Given the description of an element on the screen output the (x, y) to click on. 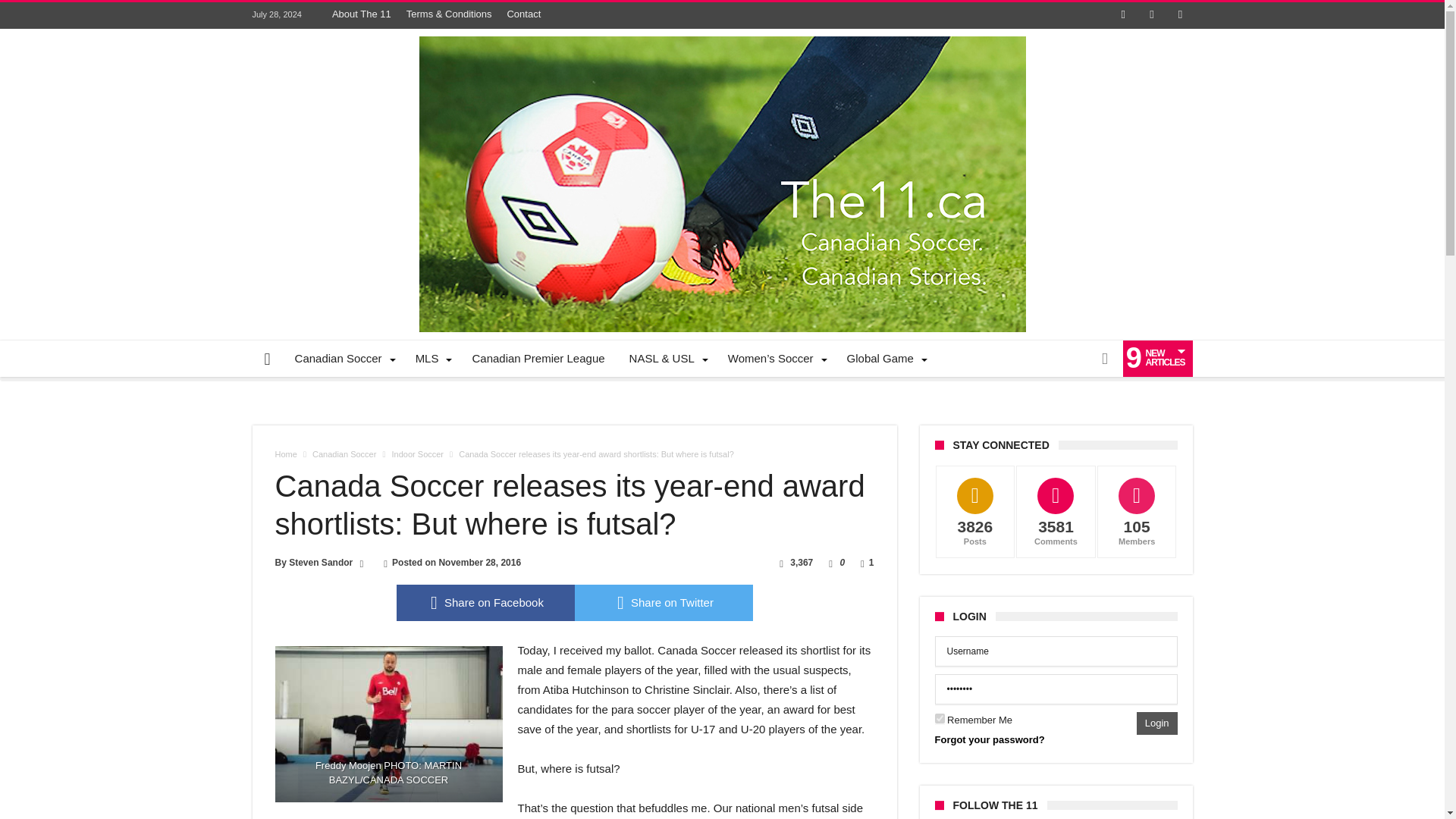
Rss (1179, 15)
forever (938, 718)
Username (1055, 651)
Password (1055, 689)
The 11 (722, 35)
Twitter (1151, 15)
Contact (523, 14)
Canadian Soccer (342, 358)
Facebook (1122, 15)
About The 11 (361, 14)
